Given the description of an element on the screen output the (x, y) to click on. 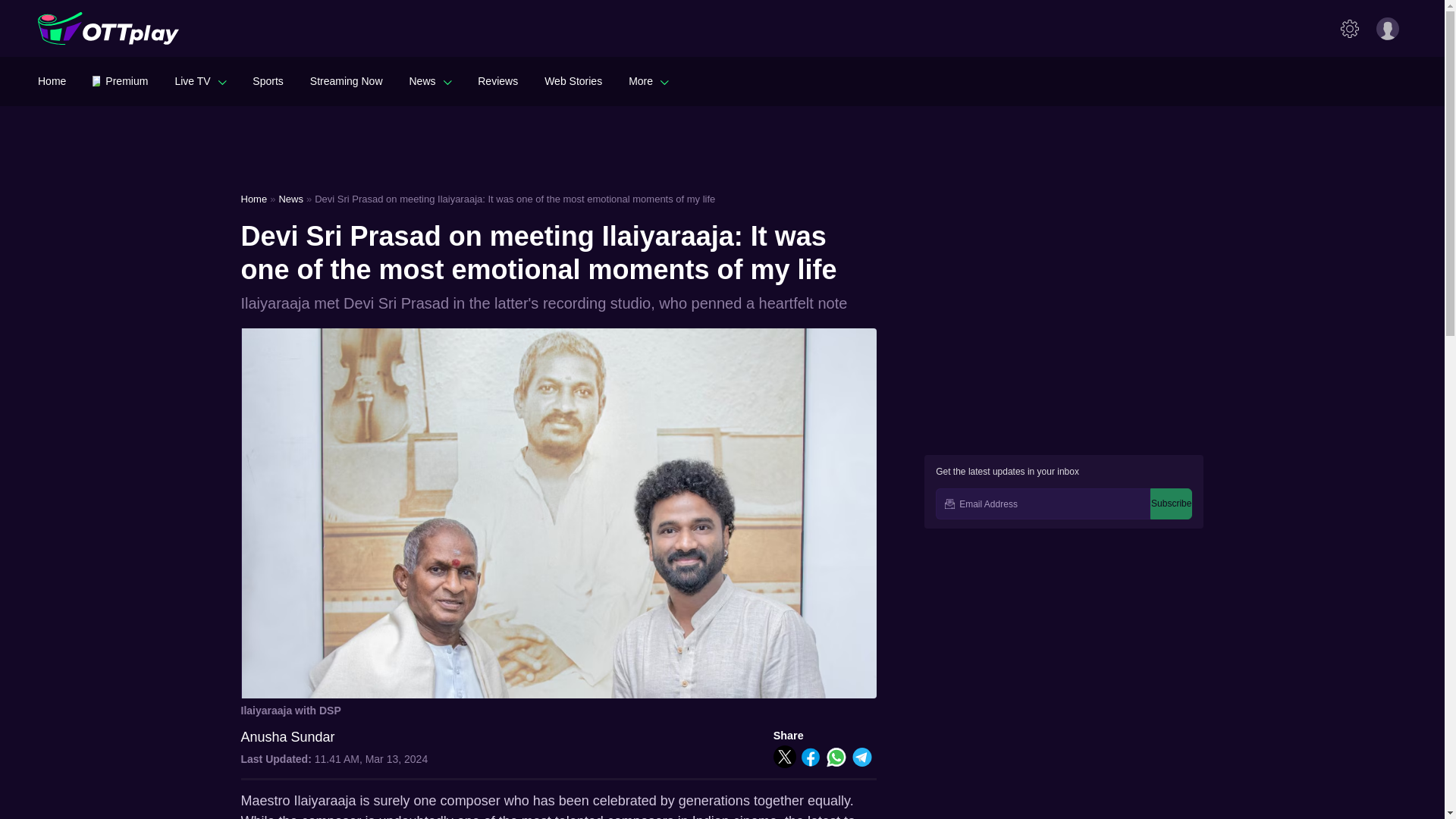
Live TV (199, 80)
Home (51, 80)
Web Stories (573, 80)
Sports (266, 80)
News (430, 80)
Premium (120, 80)
Reviews (497, 80)
More (648, 80)
Streaming Now (346, 80)
